Given the description of an element on the screen output the (x, y) to click on. 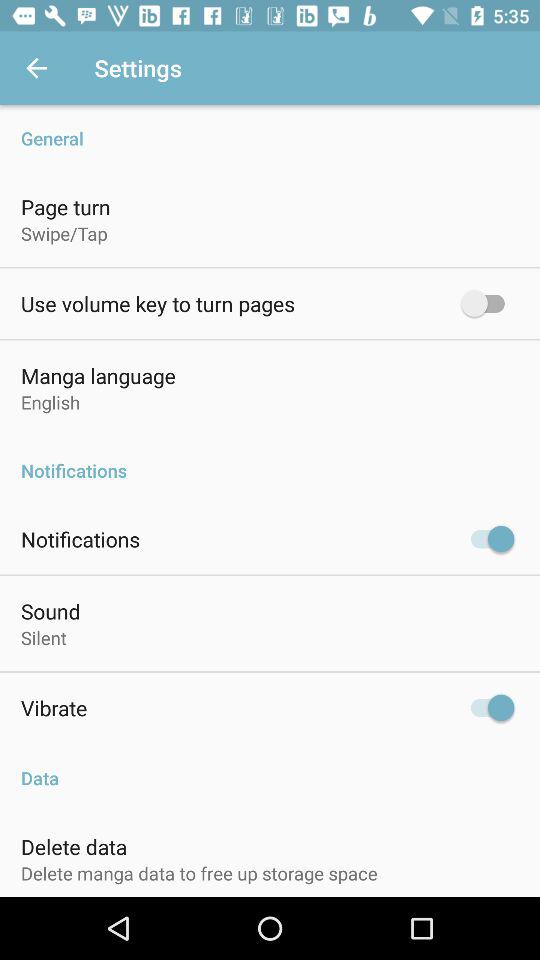
turn on the icon to the left of settings item (36, 68)
